Given the description of an element on the screen output the (x, y) to click on. 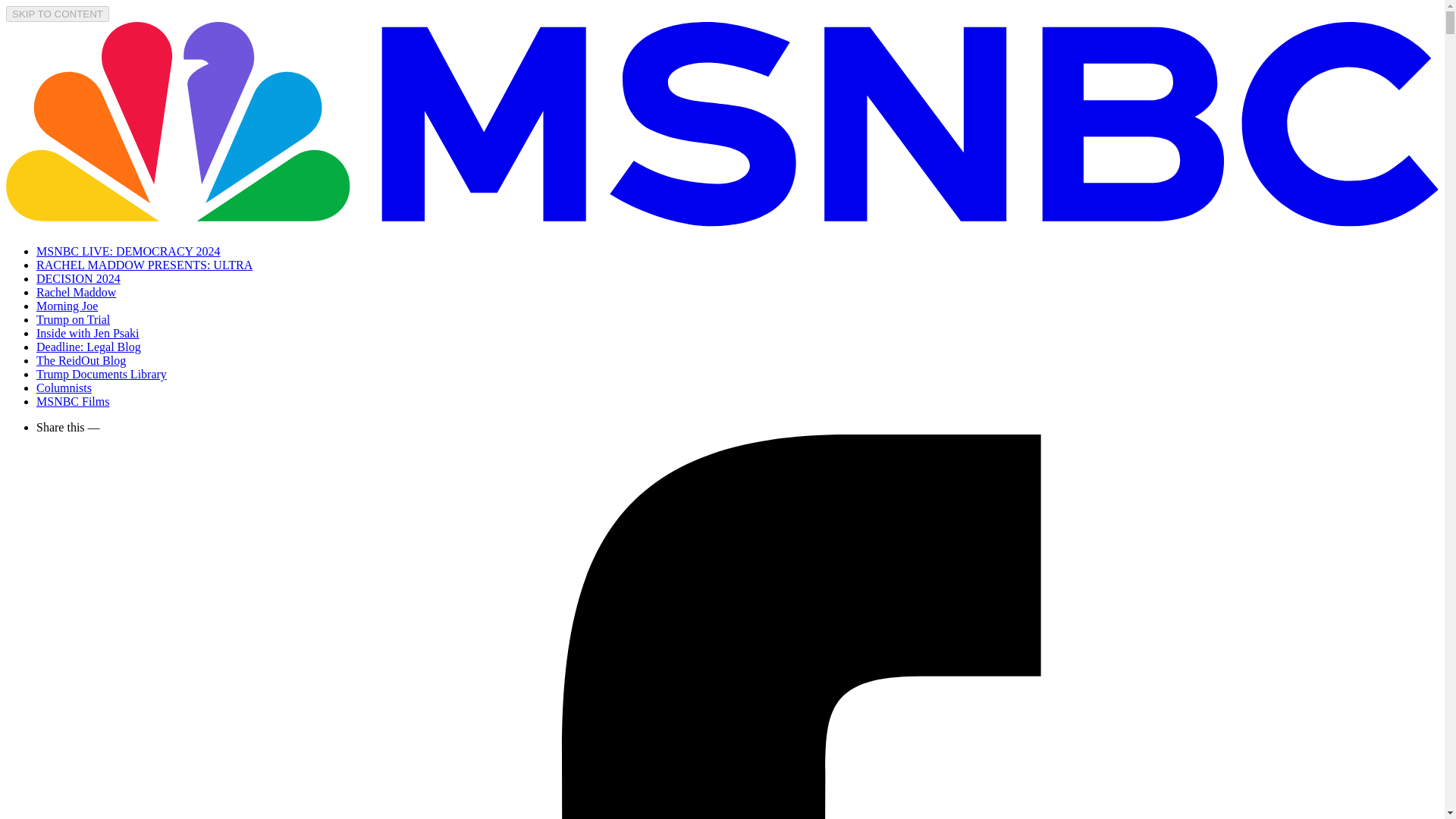
Rachel Maddow (76, 291)
The ReidOut Blog (80, 359)
Columnists (63, 387)
Trump on Trial (73, 318)
DECISION 2024 (78, 278)
RACHEL MADDOW PRESENTS: ULTRA (143, 264)
Morning Joe (66, 305)
Deadline: Legal Blog (88, 346)
Trump Documents Library (101, 373)
MSNBC Films (72, 400)
MSNBC LIVE: DEMOCRACY 2024 (128, 250)
Inside with Jen Psaki (87, 332)
SKIP TO CONTENT (57, 13)
